Given the description of an element on the screen output the (x, y) to click on. 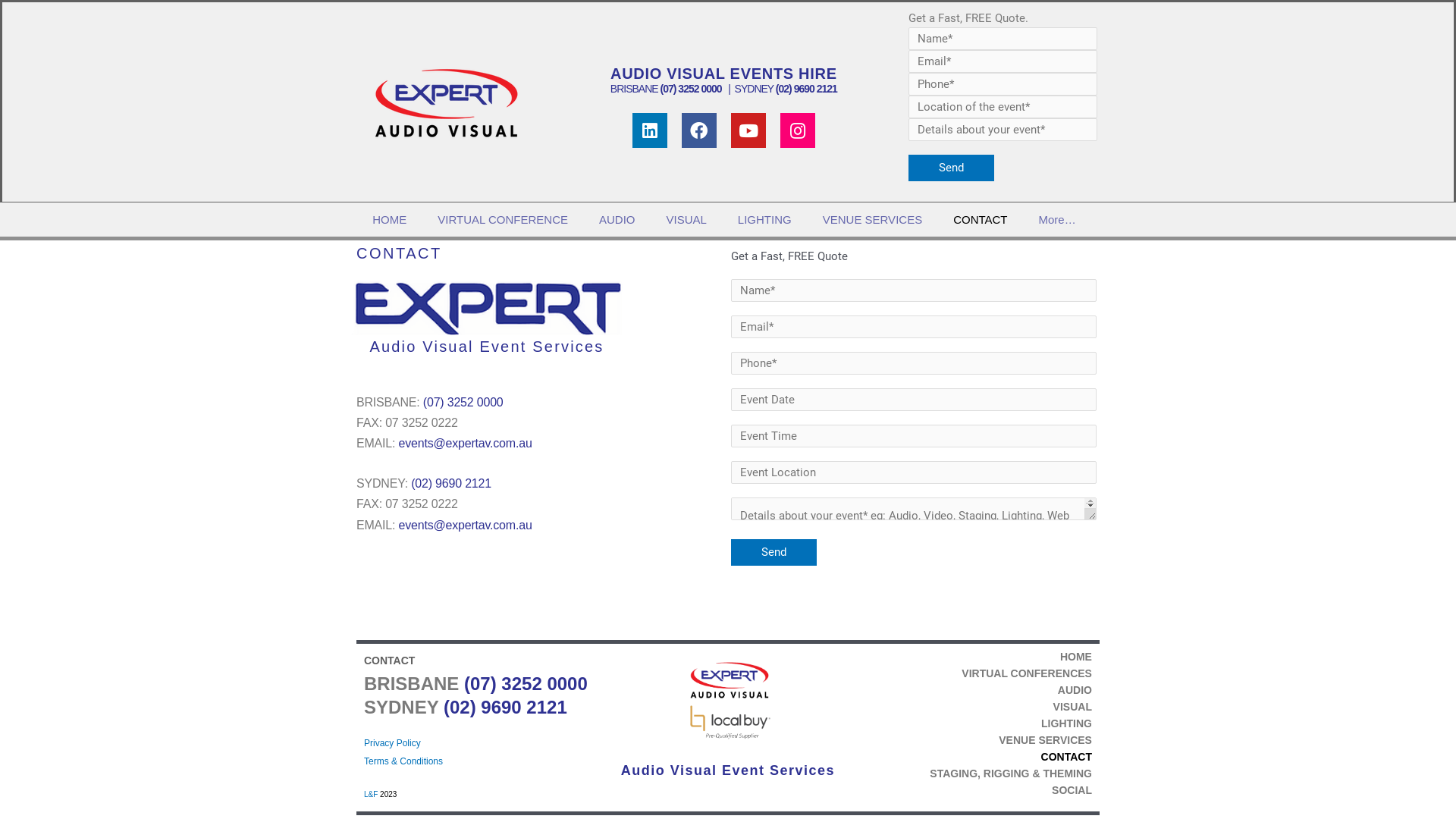
Send Element type: text (951, 167)
LIGHTING Element type: text (970, 722)
VISUAL Element type: text (970, 705)
Youtube Element type: text (748, 129)
HOME Element type: text (388, 218)
HOME Element type: text (970, 655)
Privacy Policy Element type: text (392, 742)
Linkedin Element type: text (649, 129)
(07) 3252 0000  Element type: text (464, 401)
VIRTUAL CONFERENCES Element type: text (970, 672)
SYDNEY (02) 9690 2121 Element type: text (784, 88)
LIGHTING Element type: text (764, 218)
Terms & Conditions Element type: text (403, 760)
BRISBANE (07) 3252 0000   Element type: text (667, 88)
Instagram Element type: text (797, 129)
STAGING, RIGGING & THEMING Element type: text (970, 772)
events@expertav.com.au Element type: text (465, 442)
CONTACT Element type: text (979, 218)
VISUAL Element type: text (686, 218)
VIRTUAL CONFERENCE Element type: text (502, 218)
Facebook Element type: text (698, 129)
Send Element type: text (773, 551)
L&F Element type: text (370, 794)
AUDIO Element type: text (970, 689)
VENUE SERVICES Element type: text (872, 218)
AUDIO Element type: text (616, 218)
(07) 3252 0000 Element type: text (525, 683)
CONTACT Element type: text (970, 755)
(02) 9690 2121 Element type: text (505, 706)
SOCIAL Element type: text (970, 789)
VENUE SERVICES Element type: text (970, 739)
(02) 9690 2121 Element type: text (451, 482)
events@expertav.com.au Element type: text (465, 524)
